Given the description of an element on the screen output the (x, y) to click on. 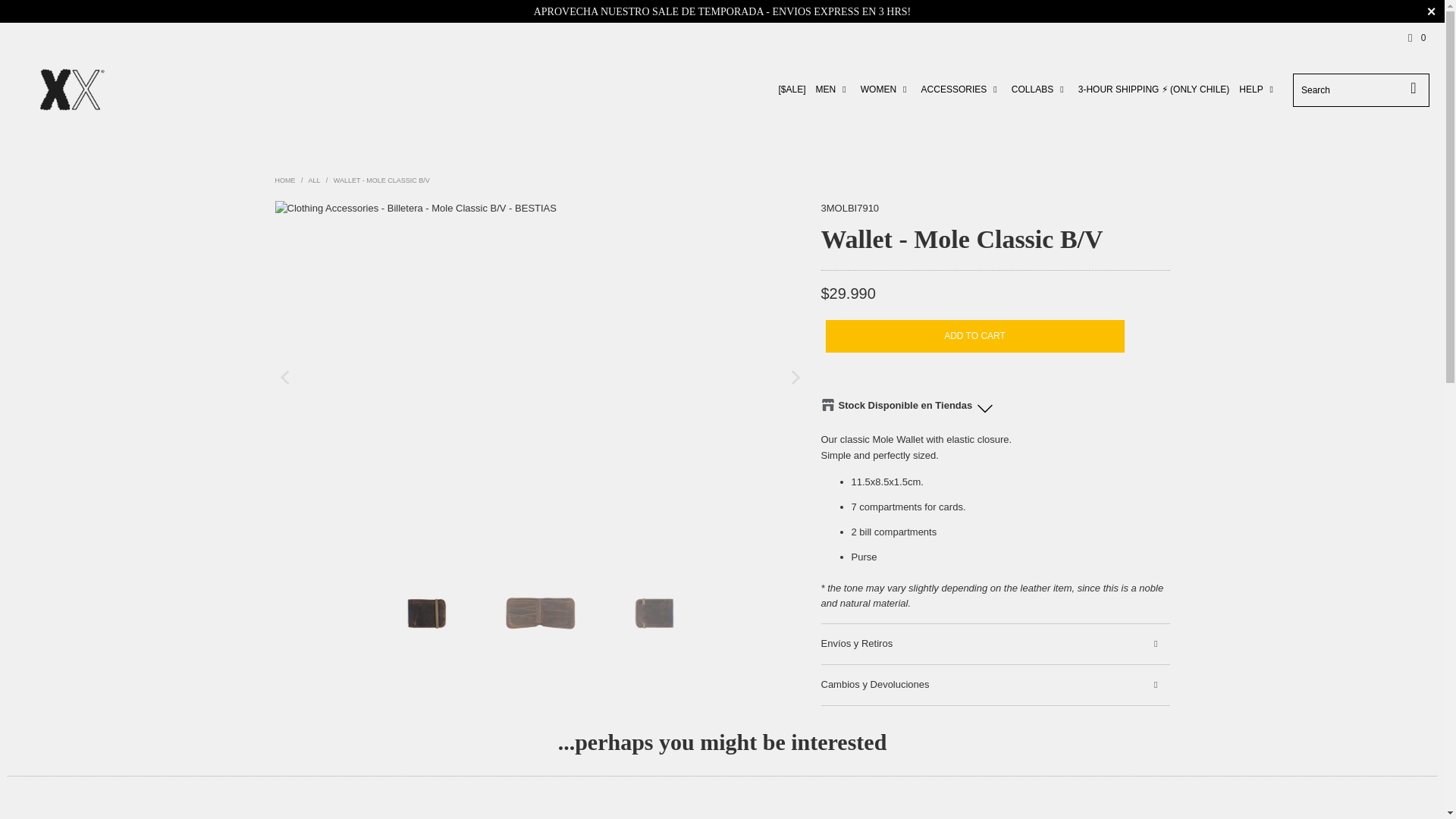
BESTIAS (285, 180)
ALL (314, 180)
Ofertas de Temporada! (722, 11)
BESTIAS (71, 89)
